Given the description of an element on the screen output the (x, y) to click on. 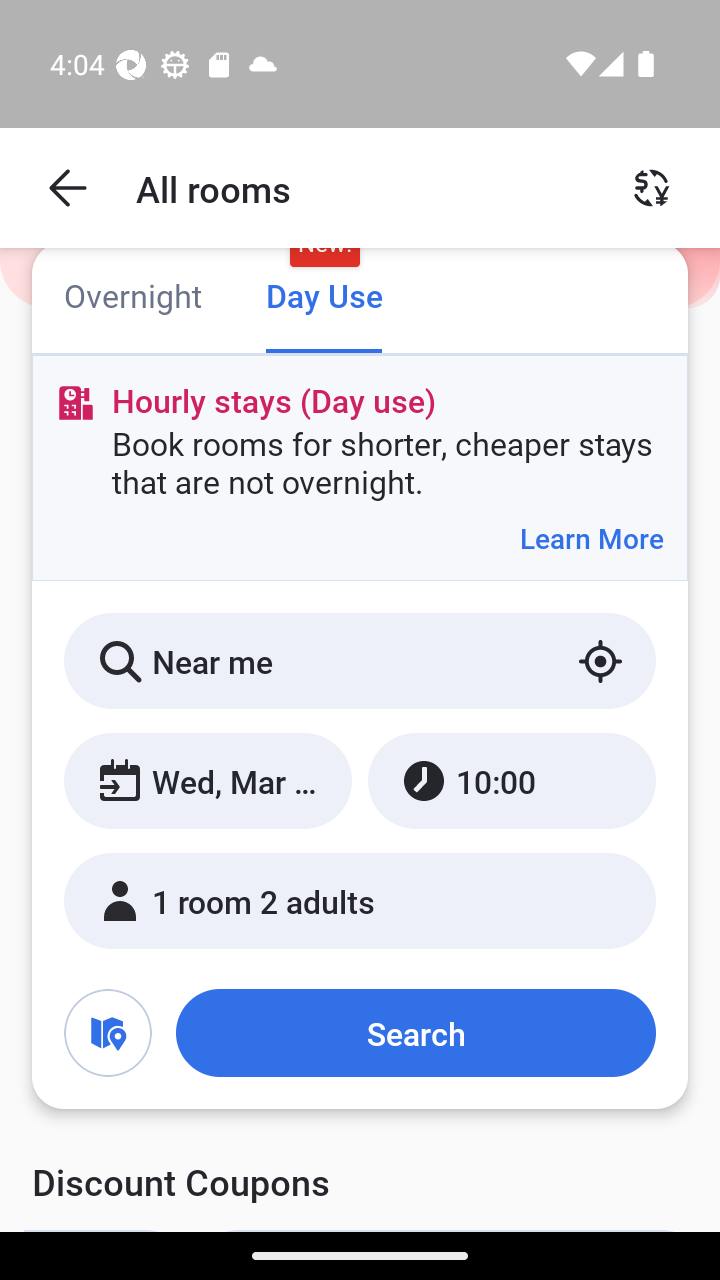
Overnight (132, 298)
Learn More (591, 538)
Near me (359, 661)
Wed, Mar 13 (208, 781)
10:00 (511, 781)
1 room 2 adults (359, 900)
Search (415, 1033)
